Given the description of an element on the screen output the (x, y) to click on. 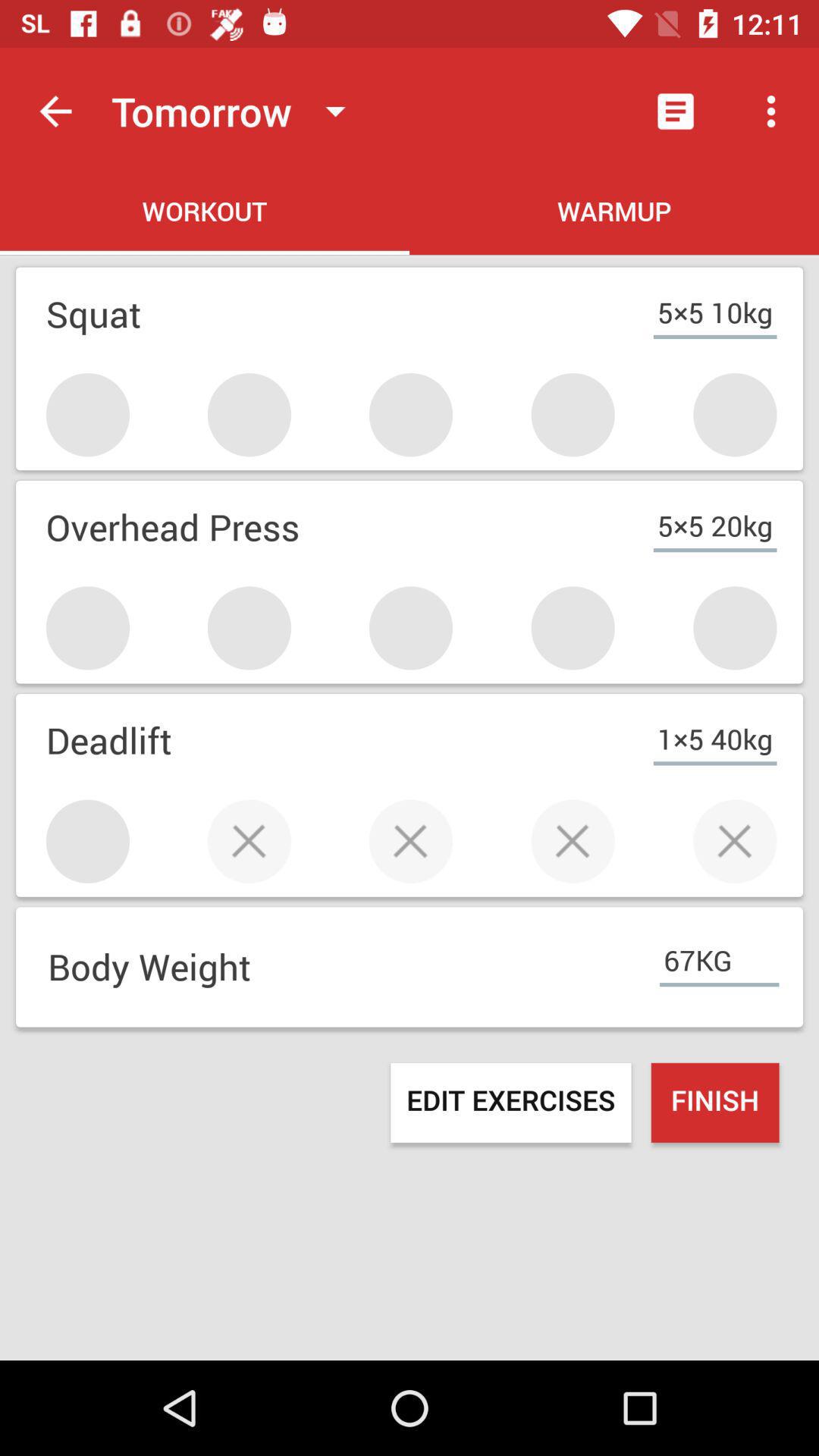
press the item to the left of the warmup icon (204, 214)
